Given the description of an element on the screen output the (x, y) to click on. 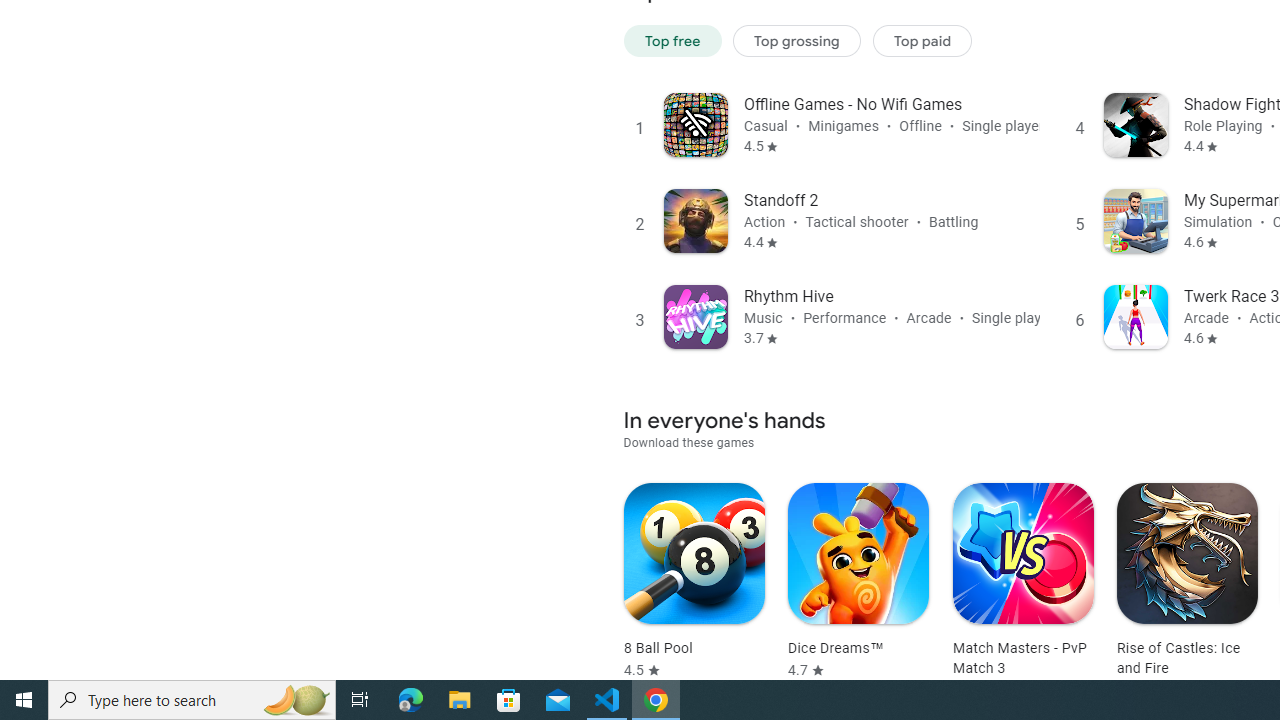
Account (104, 551)
